Given the description of an element on the screen output the (x, y) to click on. 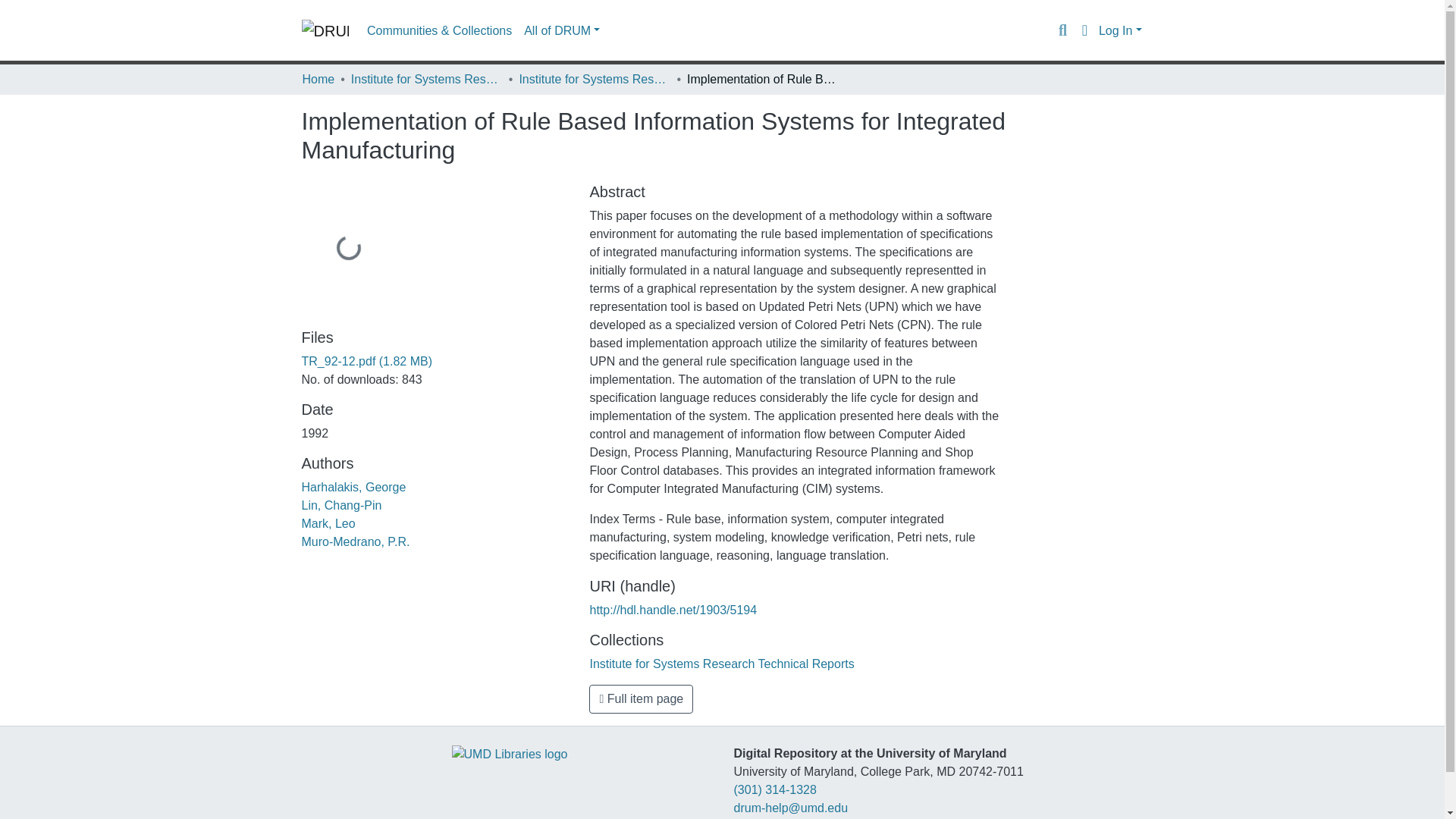
Libraries Home Page (509, 753)
Institute for Systems Research Technical Reports (593, 79)
Mark, Leo (328, 522)
Institute for Systems Research Technical Reports (721, 663)
Lin, Chang-Pin (341, 504)
Harhalakis, George (353, 486)
Institute for Systems Research (426, 79)
Full item page (641, 698)
Log In (1119, 30)
Home (317, 79)
